Given the description of an element on the screen output the (x, y) to click on. 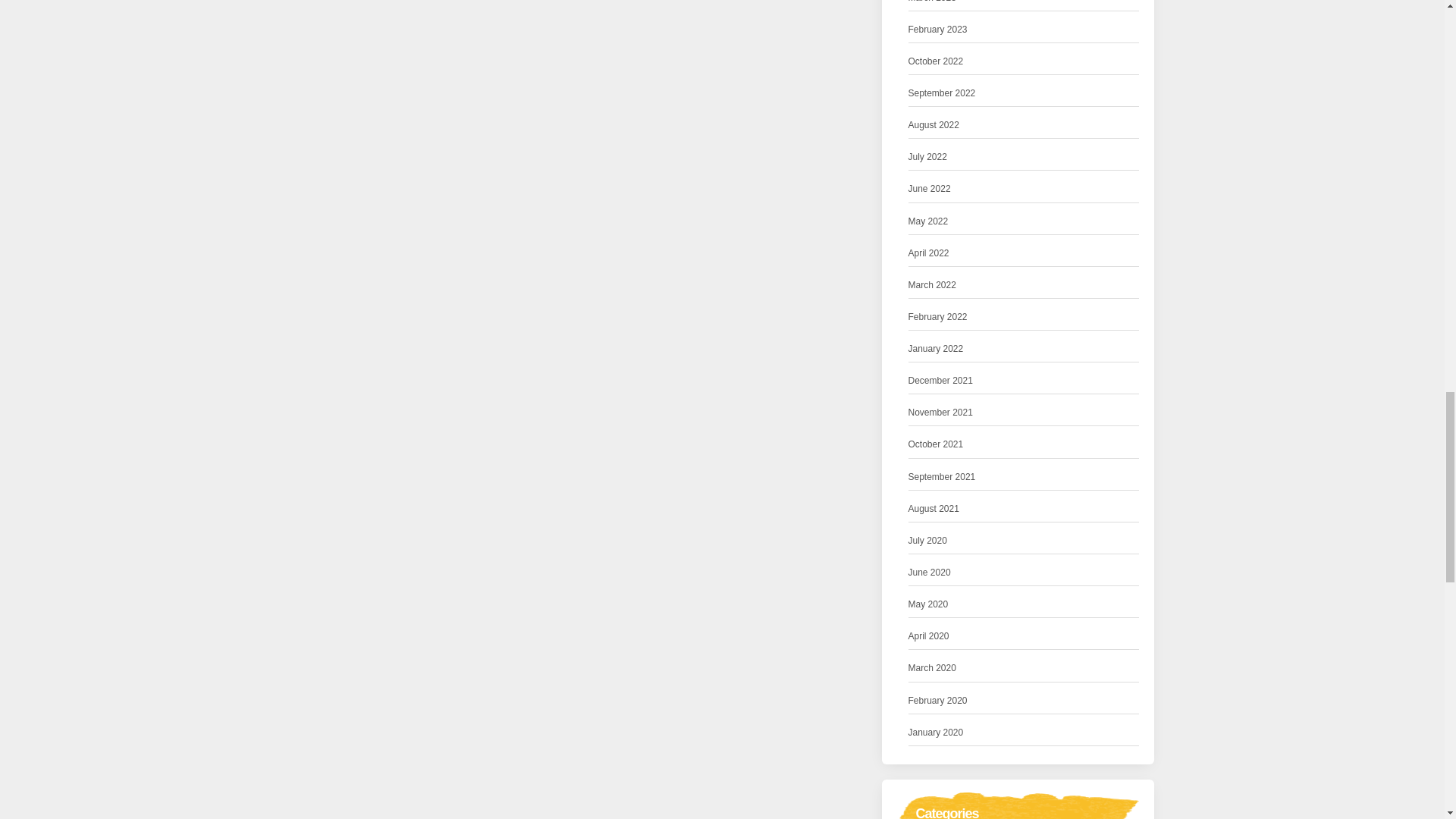
February 2023 (938, 29)
March 2023 (932, 2)
